Given the description of an element on the screen output the (x, y) to click on. 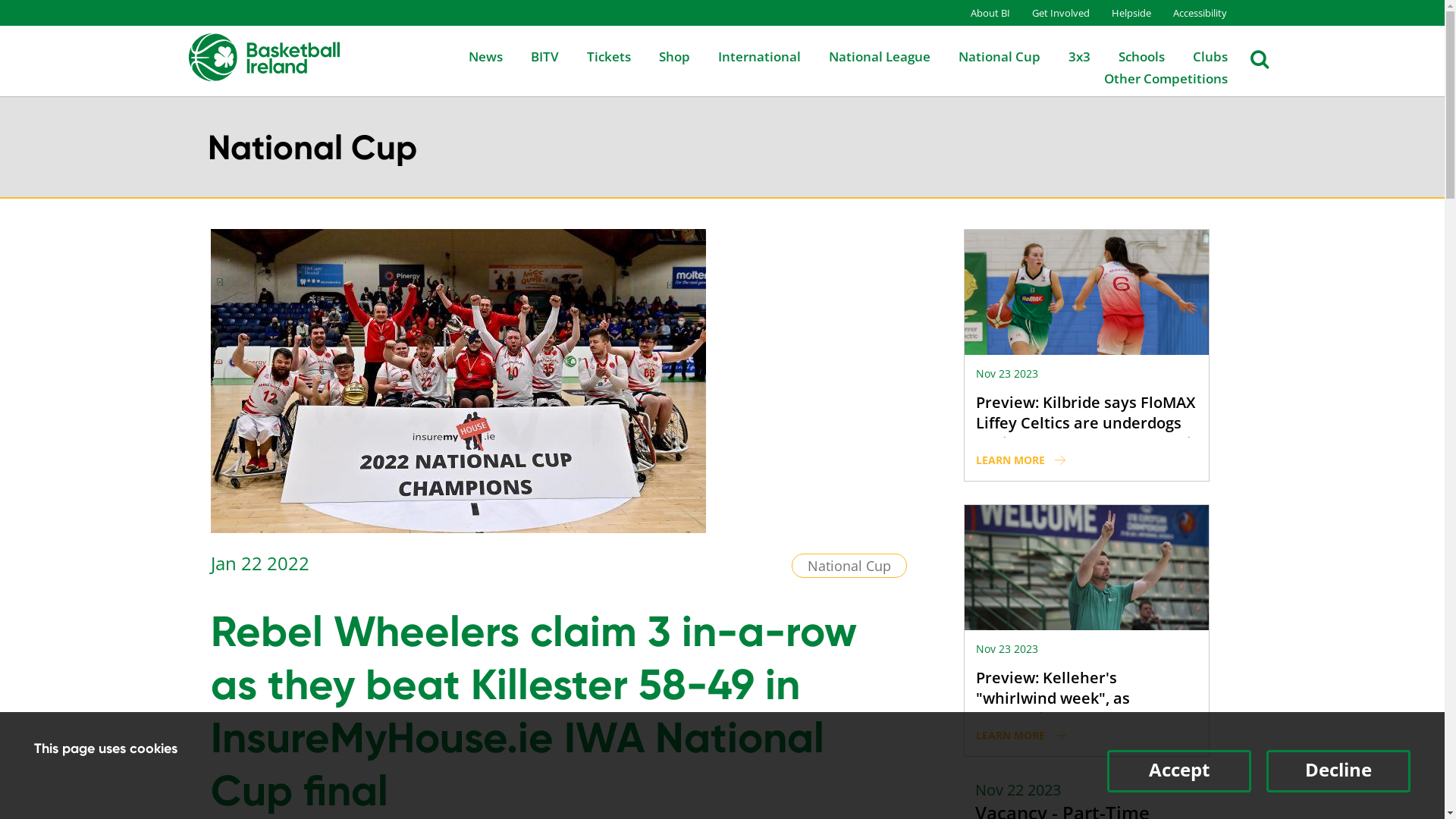
Helpside Element type: text (1121, 12)
BITV Element type: text (531, 56)
News Element type: text (472, 56)
Get Involved Element type: text (1049, 12)
Tickets Element type: text (595, 56)
Schools Element type: text (1128, 56)
National League Element type: text (865, 56)
National Cup Element type: text (986, 56)
Shop Element type: text (660, 56)
Accept Element type: text (1179, 770)
Clubs Element type: text (1196, 56)
Decline Element type: text (1338, 770)
National Cup Element type: text (848, 565)
3x3 Element type: text (1065, 56)
About BI Element type: text (980, 12)
Other Competitions Element type: text (1152, 78)
Accessibility Element type: text (1189, 12)
International Element type: text (745, 56)
